Given the description of an element on the screen output the (x, y) to click on. 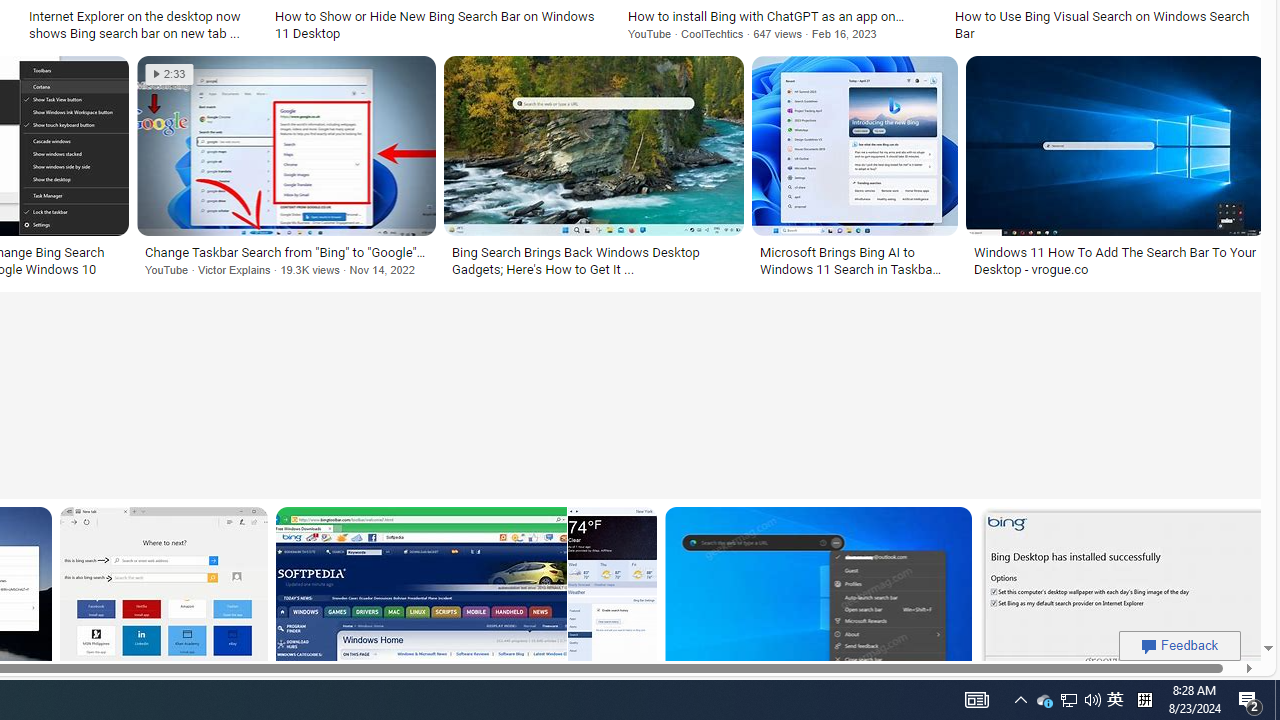
Image result for Bing Search Bar Install (1122, 596)
Image result for Bing Search Bar Install (1122, 596)
How to Use Bing Visual Search on Windows Search Bar (1106, 24)
